Given the description of an element on the screen output the (x, y) to click on. 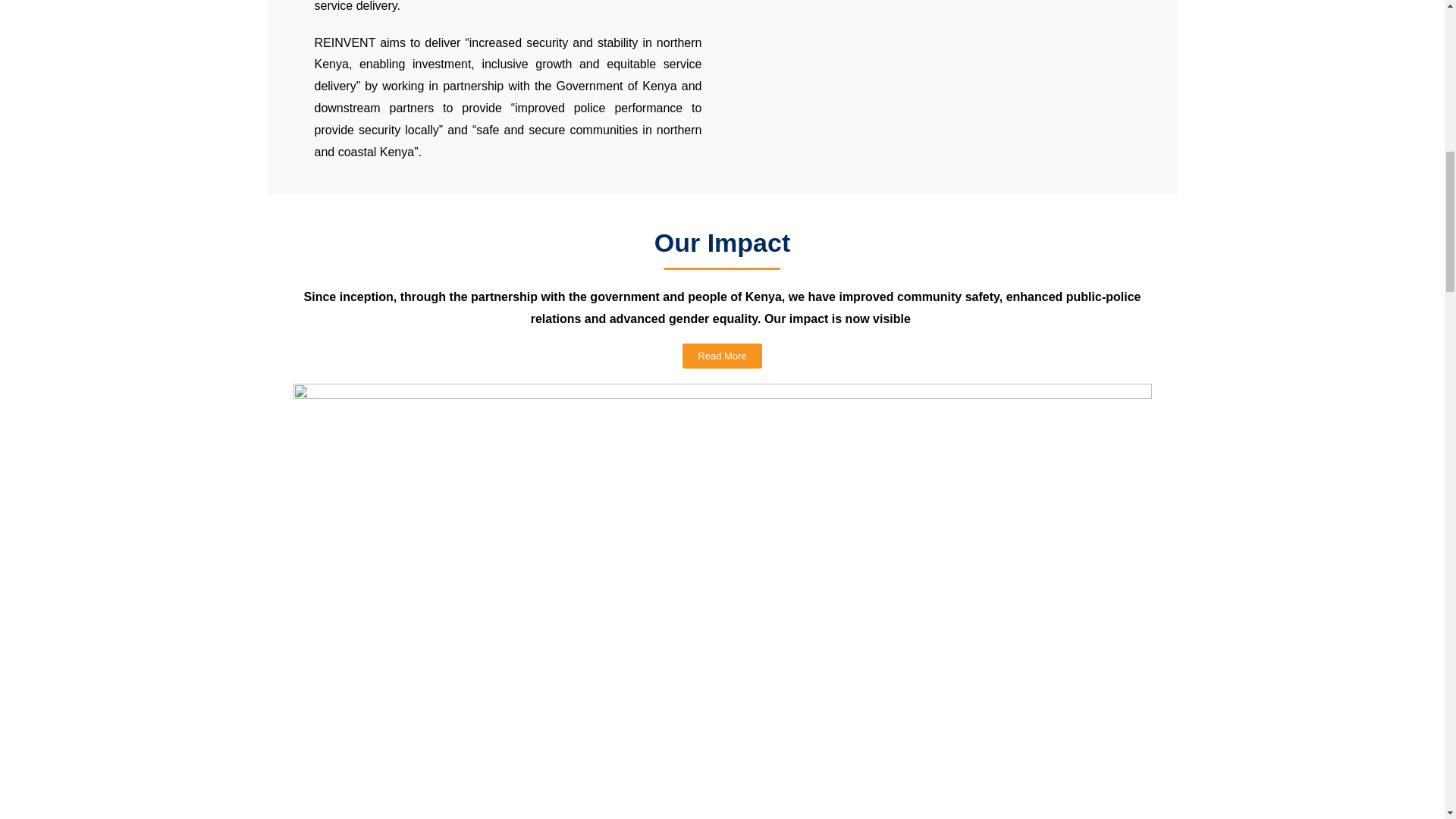
Read More (721, 355)
